Given the description of an element on the screen output the (x, y) to click on. 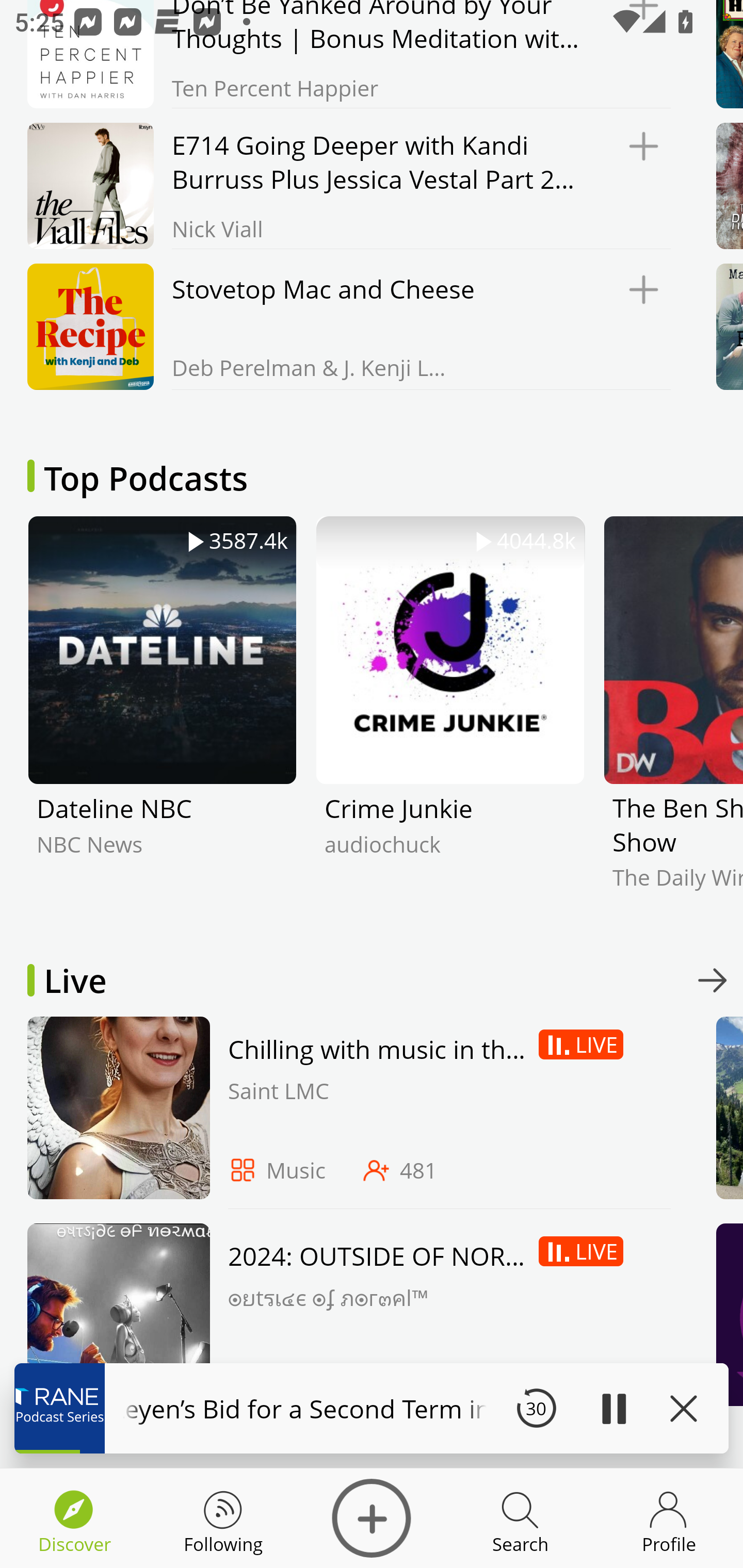
3587.4k Dateline NBC NBC News (162, 717)
4044.8k Crime Junkie audiochuck (450, 717)
The Ben Shapiro Show The Daily Wire (673, 717)
Play (613, 1407)
30 Seek Backward (536, 1407)
Discover Following (222, 1518)
Discover (371, 1518)
Discover Search (519, 1518)
Discover Profile (668, 1518)
